Given the description of an element on the screen output the (x, y) to click on. 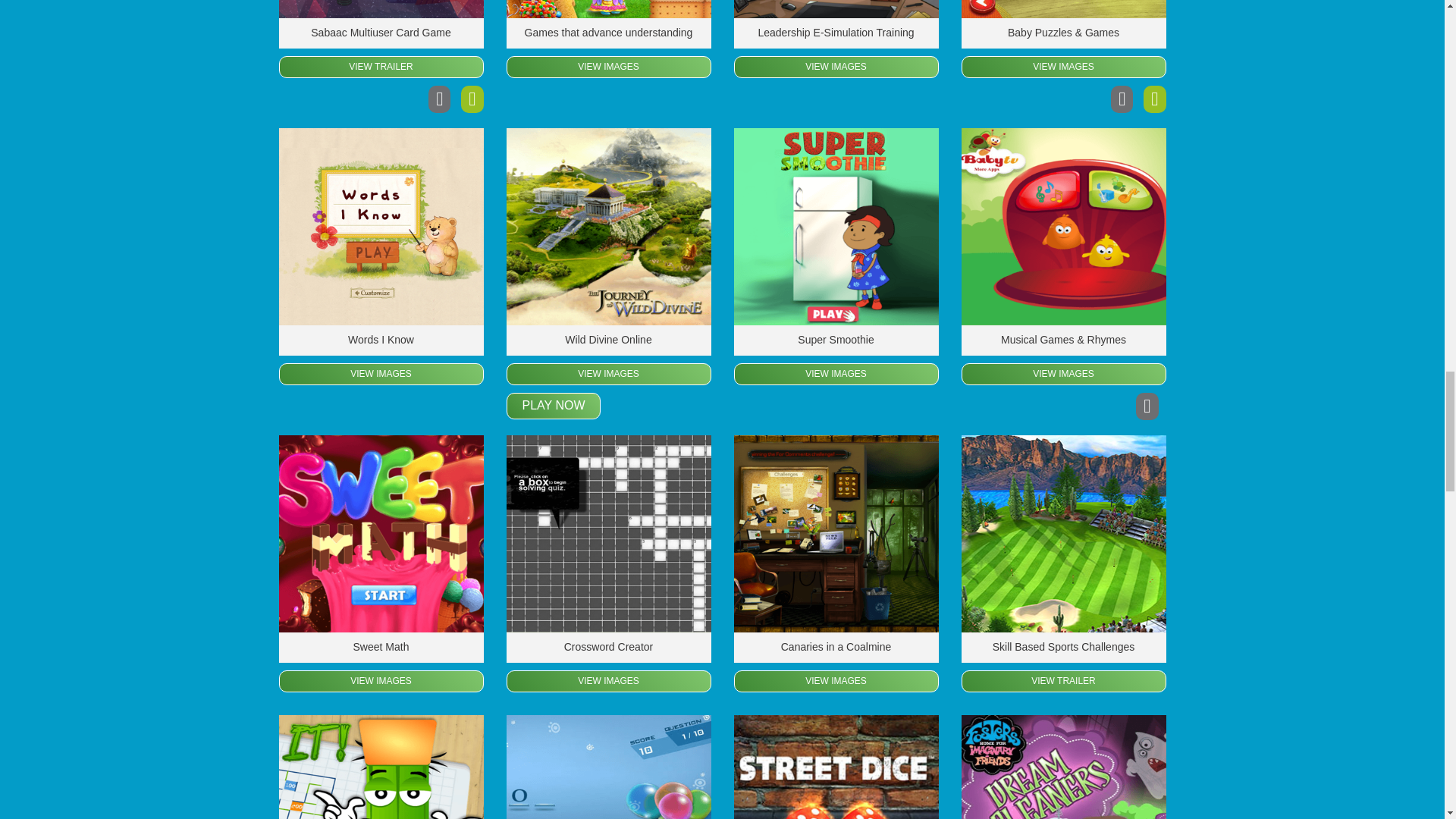
Play Now (553, 406)
